Given the description of an element on the screen output the (x, y) to click on. 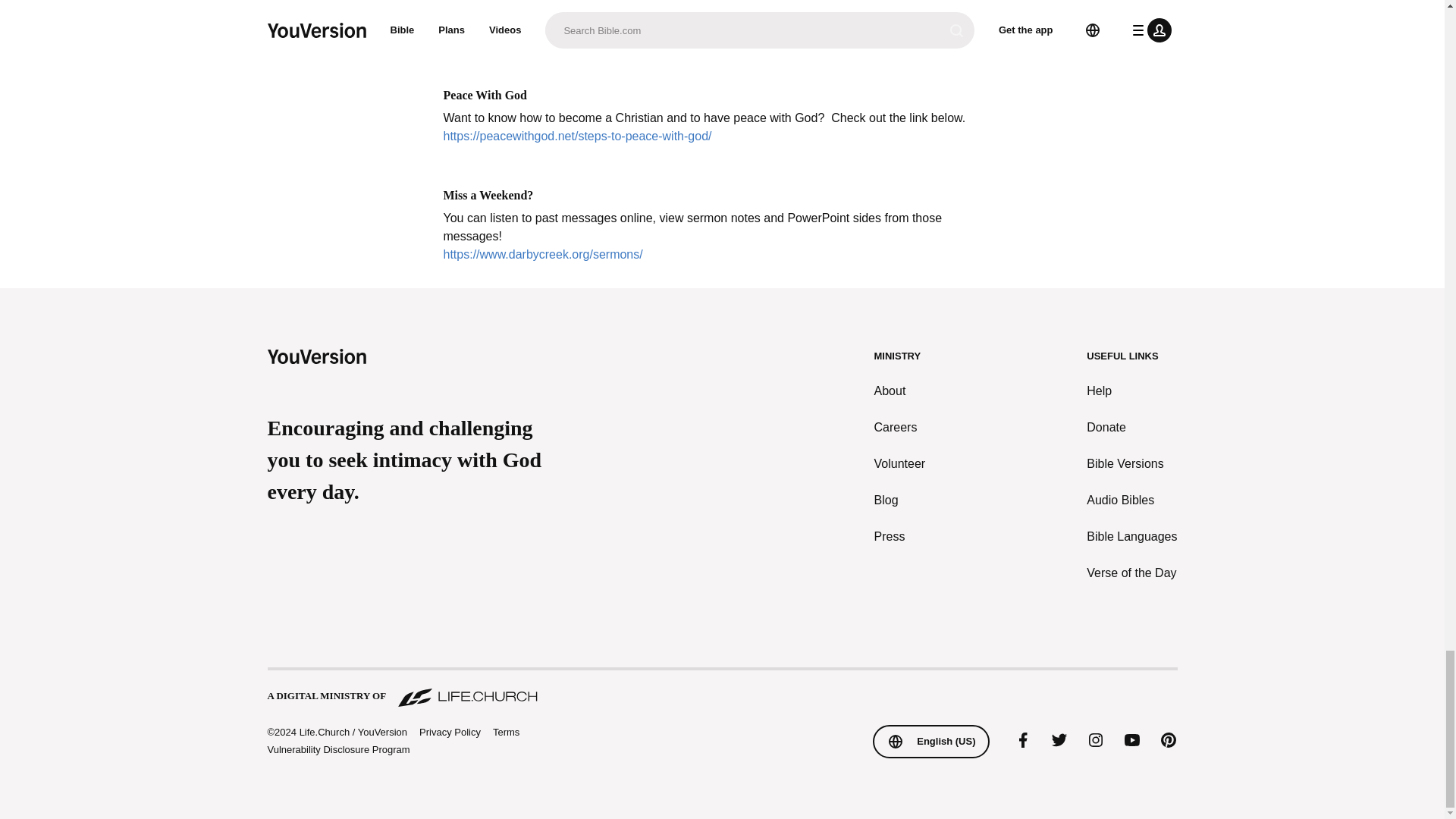
Donate (1131, 427)
Verse of the Day (1131, 573)
Terms (506, 731)
About (900, 391)
Bible Languages (1131, 536)
Vulnerability Disclosure Program (337, 749)
Press (900, 536)
Careers (900, 427)
Help (1131, 391)
Bible Versions (1131, 464)
